Given the description of an element on the screen output the (x, y) to click on. 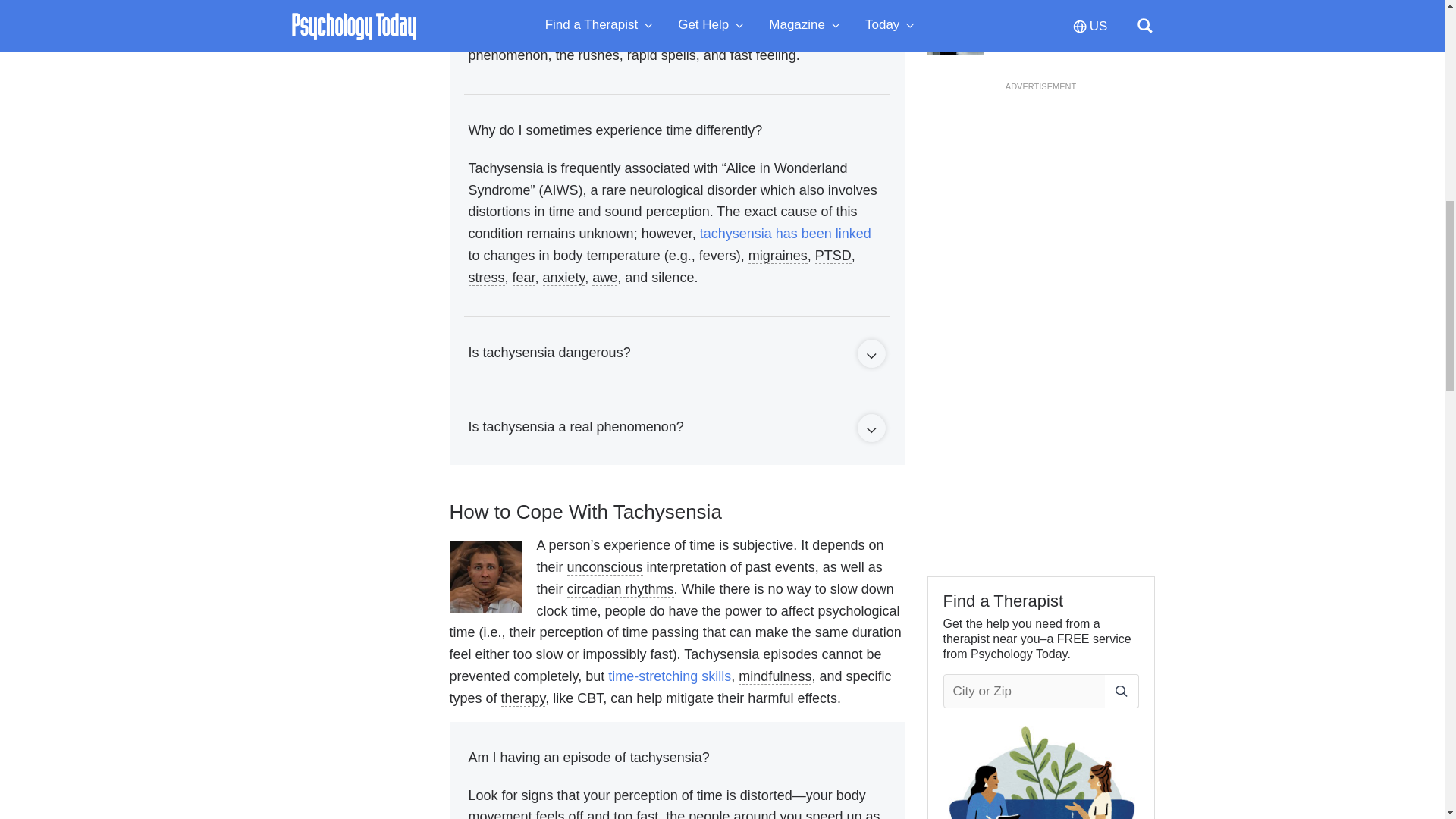
Created with Sketch. (871, 430)
Created with Sketch. (871, 355)
